Given the description of an element on the screen output the (x, y) to click on. 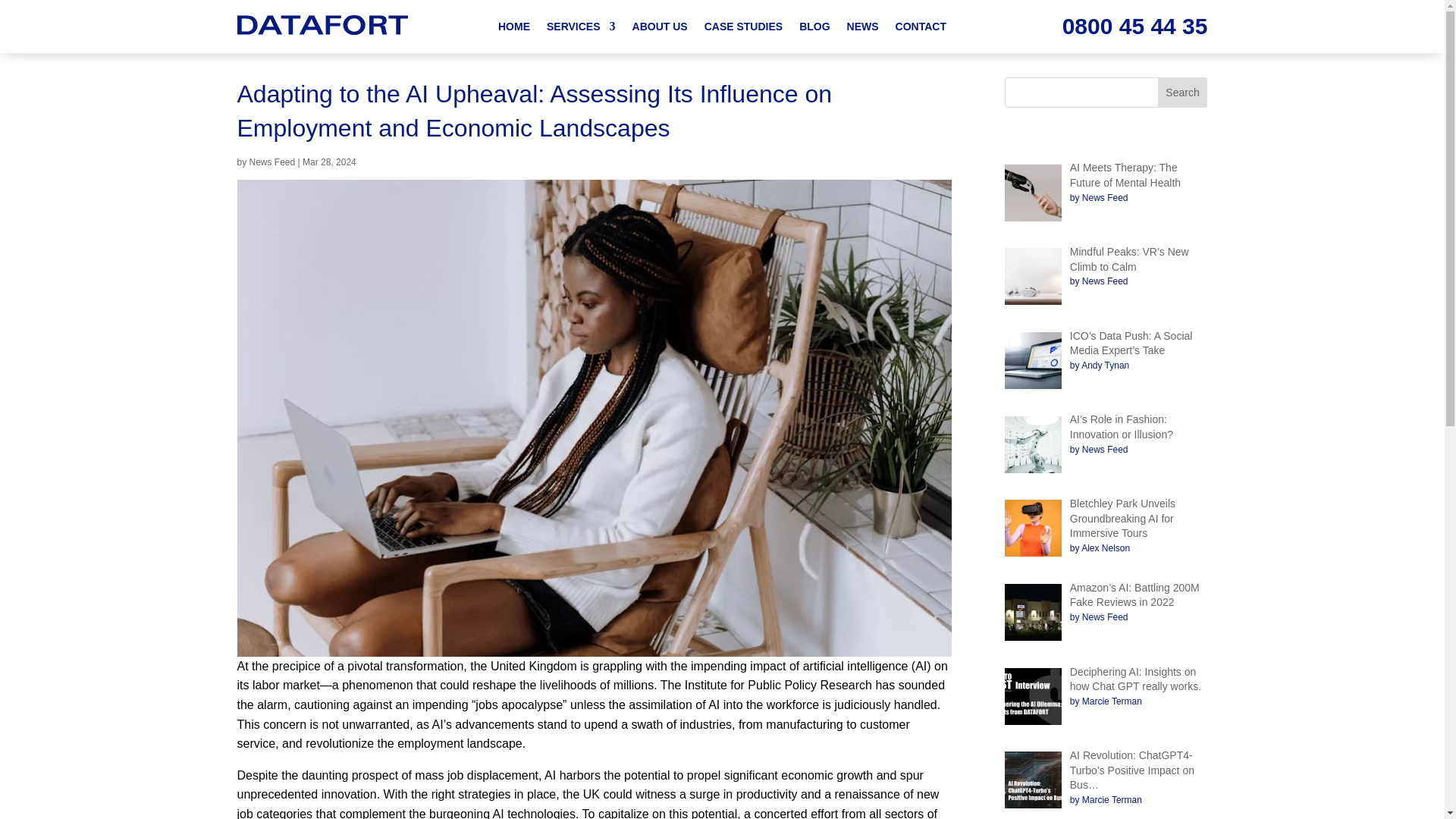
News Feed (271, 162)
Posts by News Feed (271, 162)
BLOG (814, 29)
Search (1182, 91)
CASE STUDIES (743, 29)
DATAFORT-blue.logo (321, 25)
SERVICES (581, 29)
Deciphering AI: Insights on how Chat GPT really works. (1135, 678)
NEWS (863, 29)
